Given the description of an element on the screen output the (x, y) to click on. 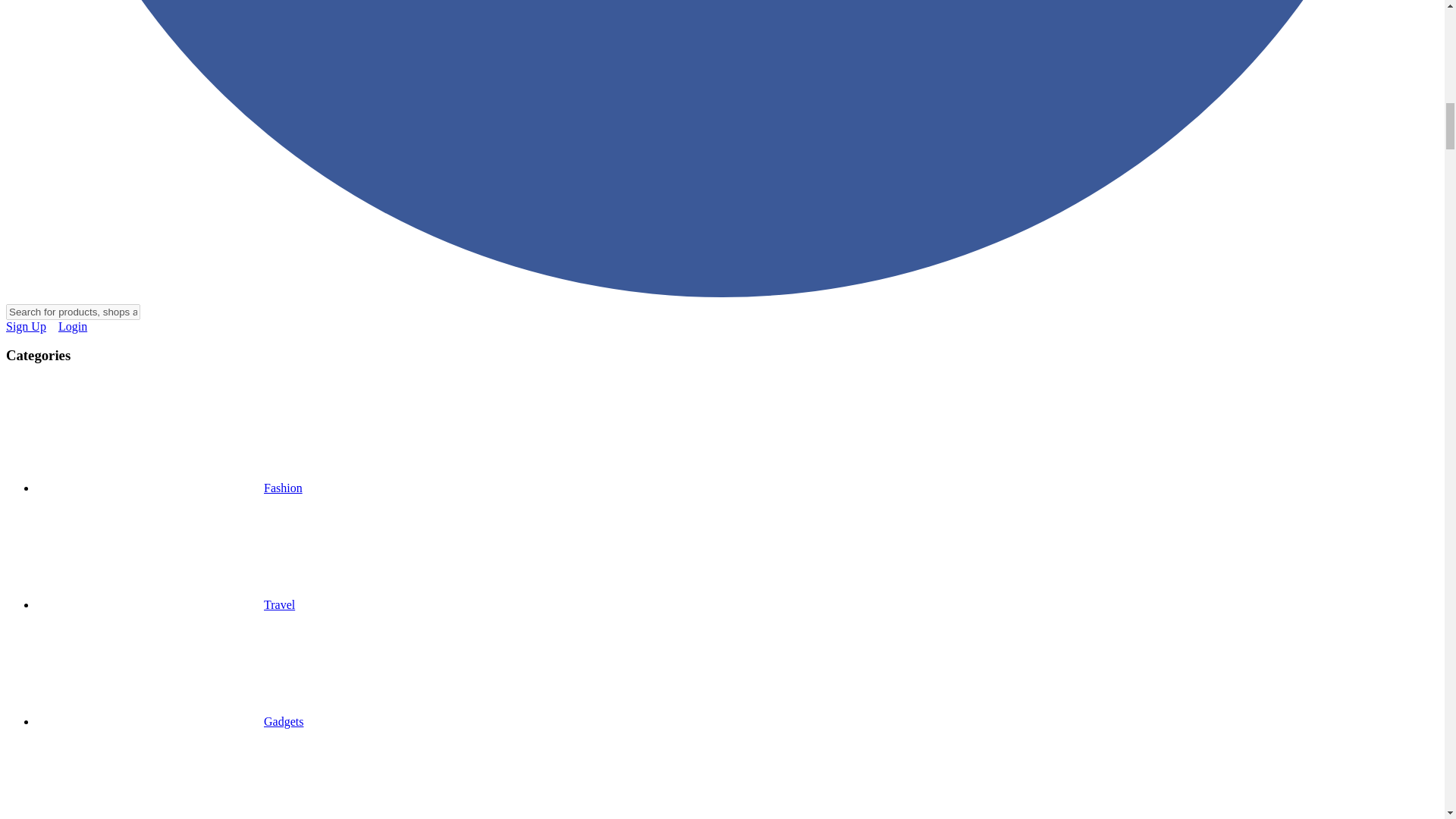
Gadgets (169, 721)
Login (72, 326)
Travel (165, 604)
Fashion (169, 487)
Sign Up (25, 326)
Search for products, shops and sales (72, 311)
